Given the description of an element on the screen output the (x, y) to click on. 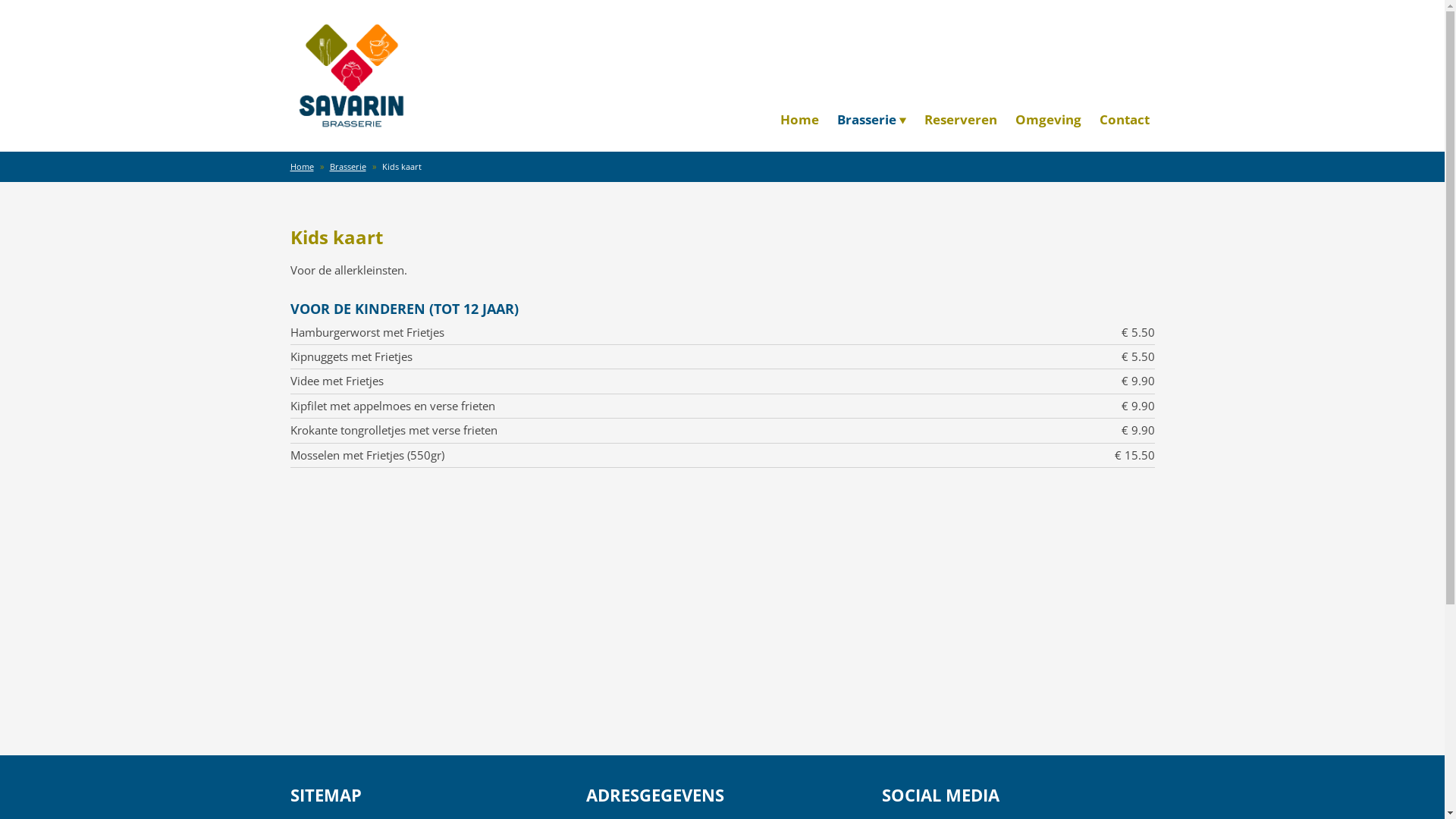
Kids kaart Element type: text (401, 166)
Omgeving Element type: text (1048, 119)
Home Element type: text (799, 119)
Home Element type: text (301, 166)
Brasserie Element type: text (347, 166)
Contact Element type: text (1123, 119)
Reserveren Element type: text (960, 119)
Brasserie Element type: text (870, 119)
